Given the description of an element on the screen output the (x, y) to click on. 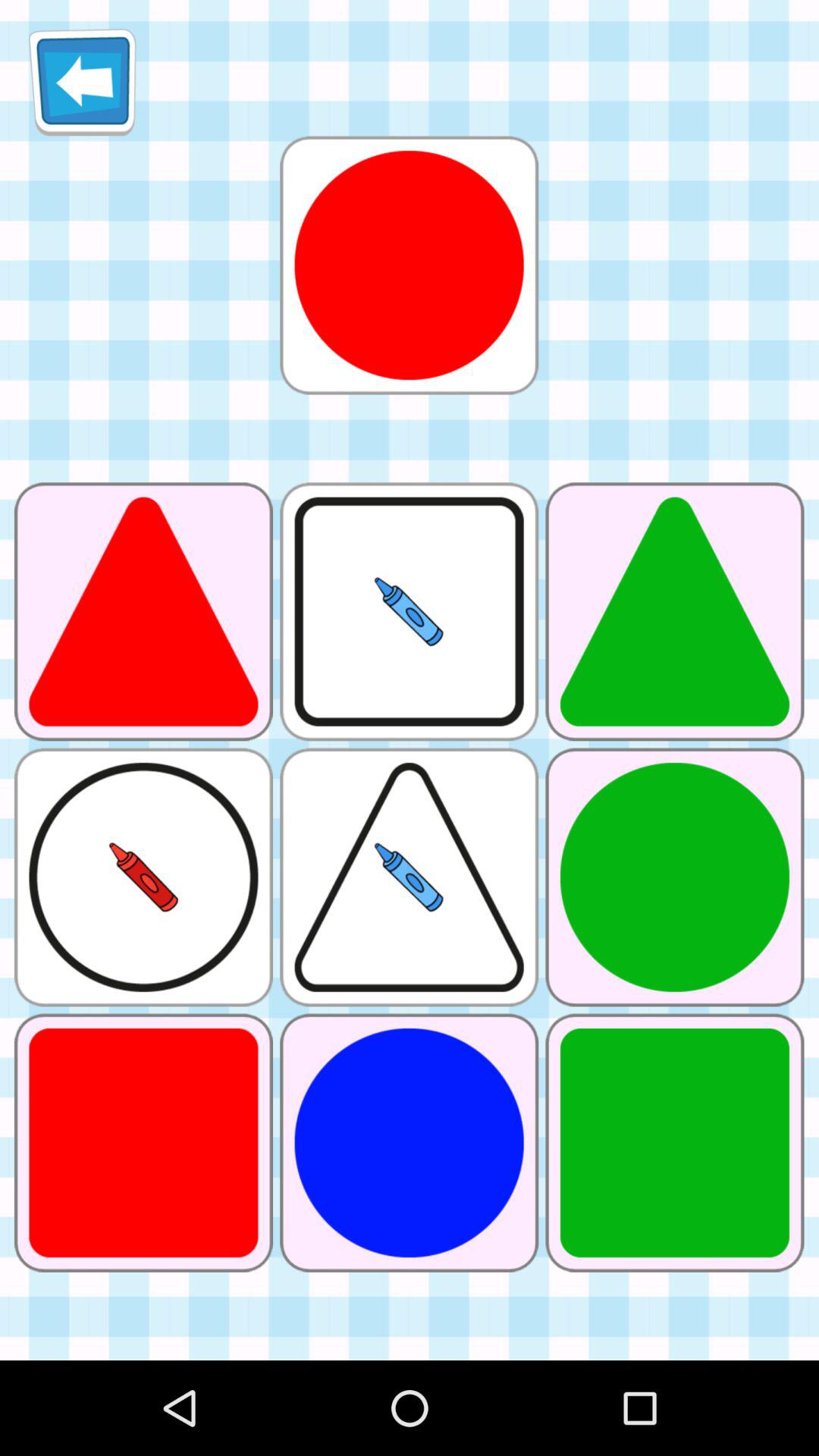
go back (82, 82)
